Given the description of an element on the screen output the (x, y) to click on. 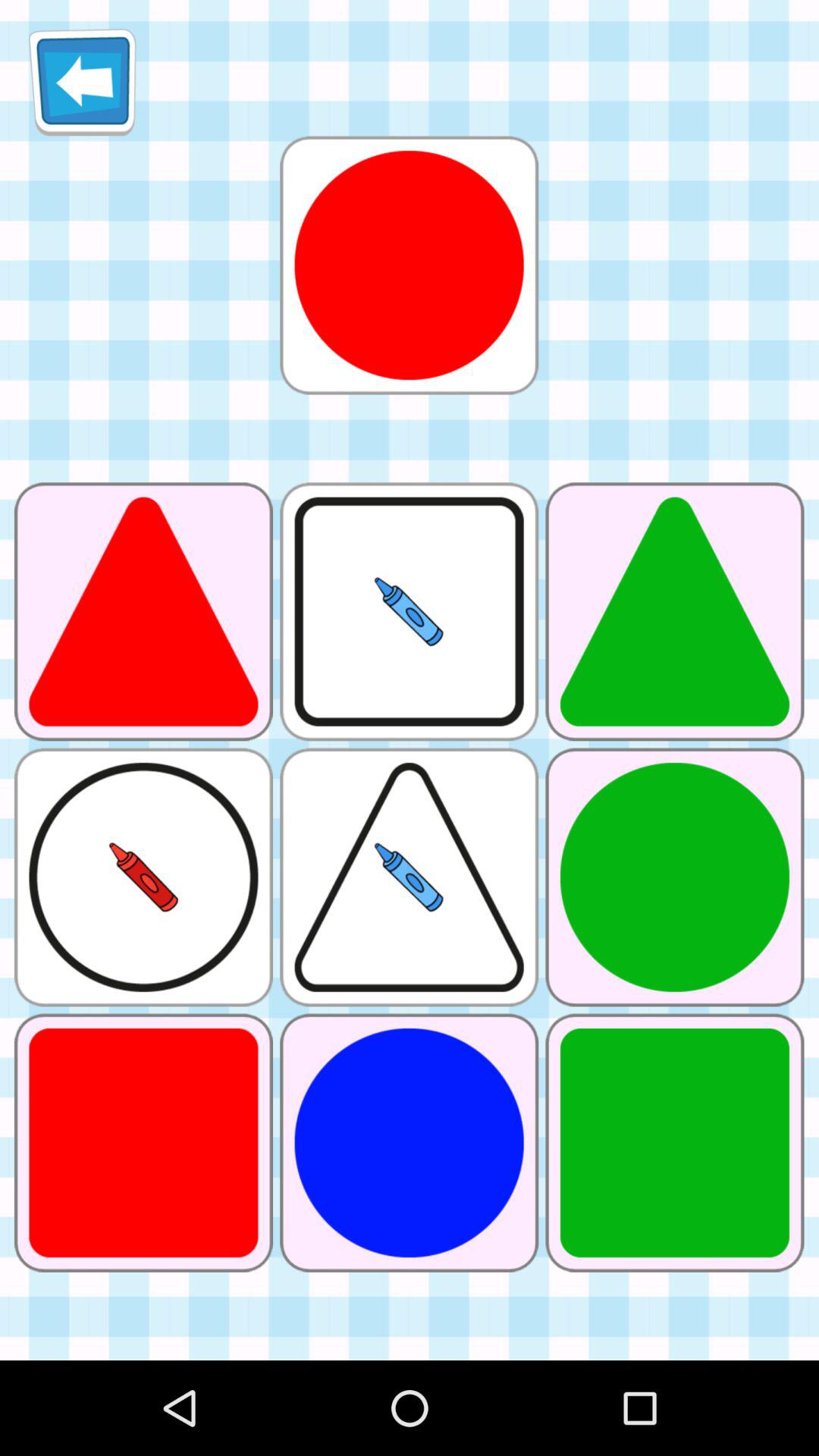
go back (82, 82)
